Given the description of an element on the screen output the (x, y) to click on. 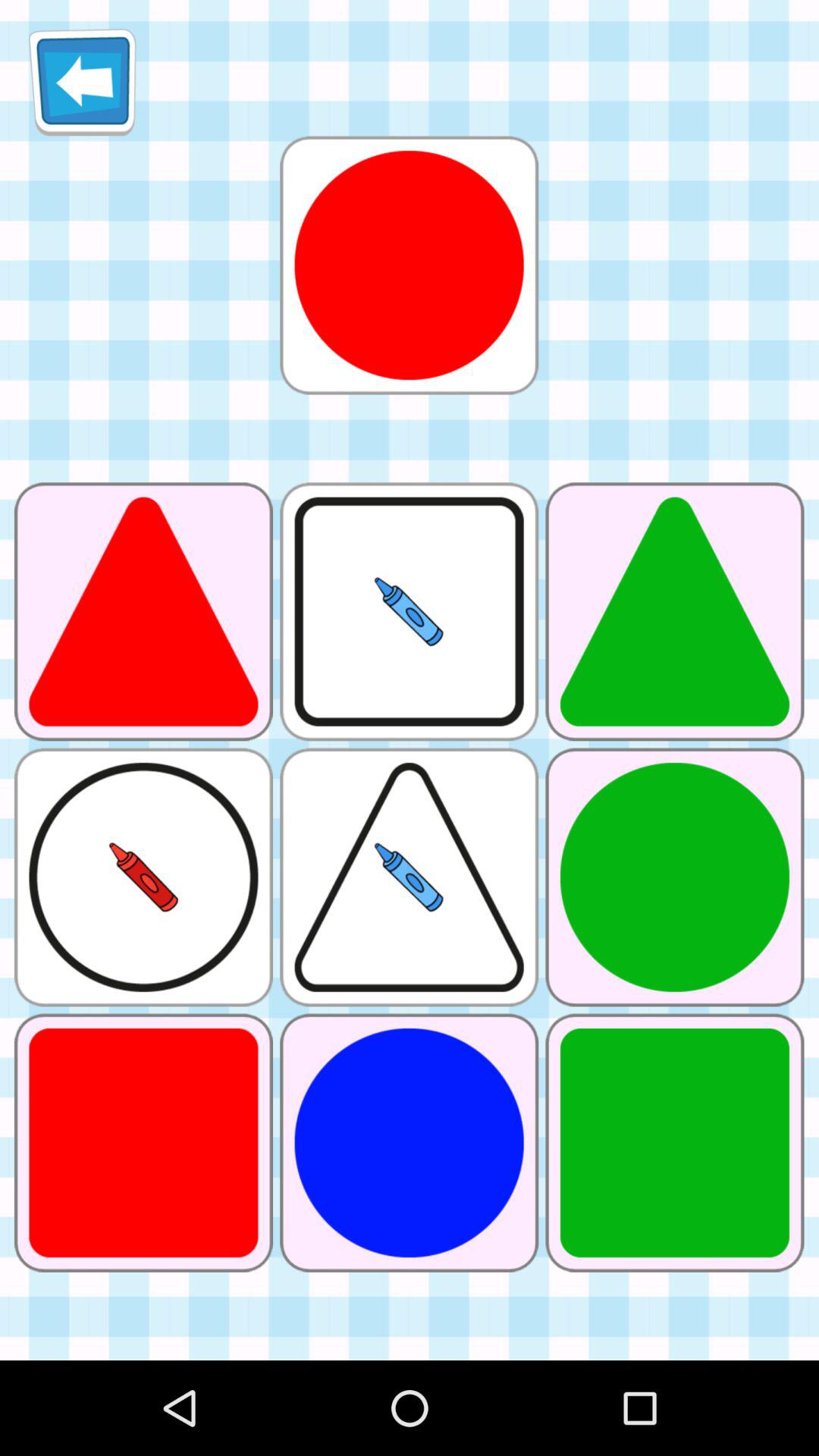
go back (82, 82)
